Given the description of an element on the screen output the (x, y) to click on. 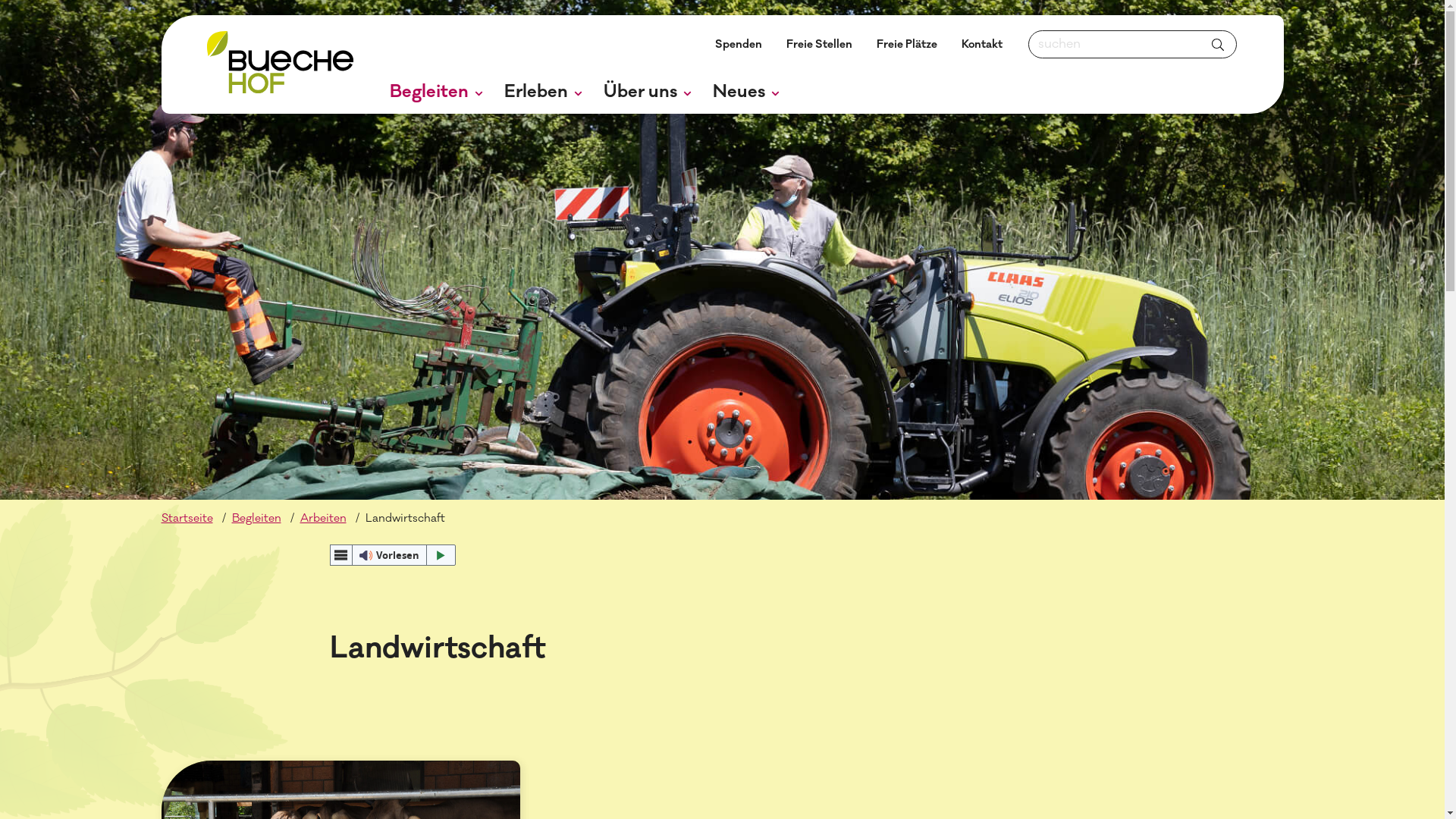
Begleiten Element type: text (256, 518)
Arbeiten Element type: text (323, 518)
Logo Buechehof Sozialtherapeutische Einrichtung Element type: text (279, 64)
Startseite Element type: text (186, 518)
Neues Element type: text (746, 91)
Begleiten Element type: text (436, 91)
Spenden Element type: text (737, 44)
Erleben Element type: text (542, 91)
suche Element type: text (1217, 44)
20210531pl199 Element type: hover (722, 249)
Freie Stellen Element type: text (818, 44)
Kontakt Element type: text (981, 44)
Vorlesen Element type: text (392, 554)
